Given the description of an element on the screen output the (x, y) to click on. 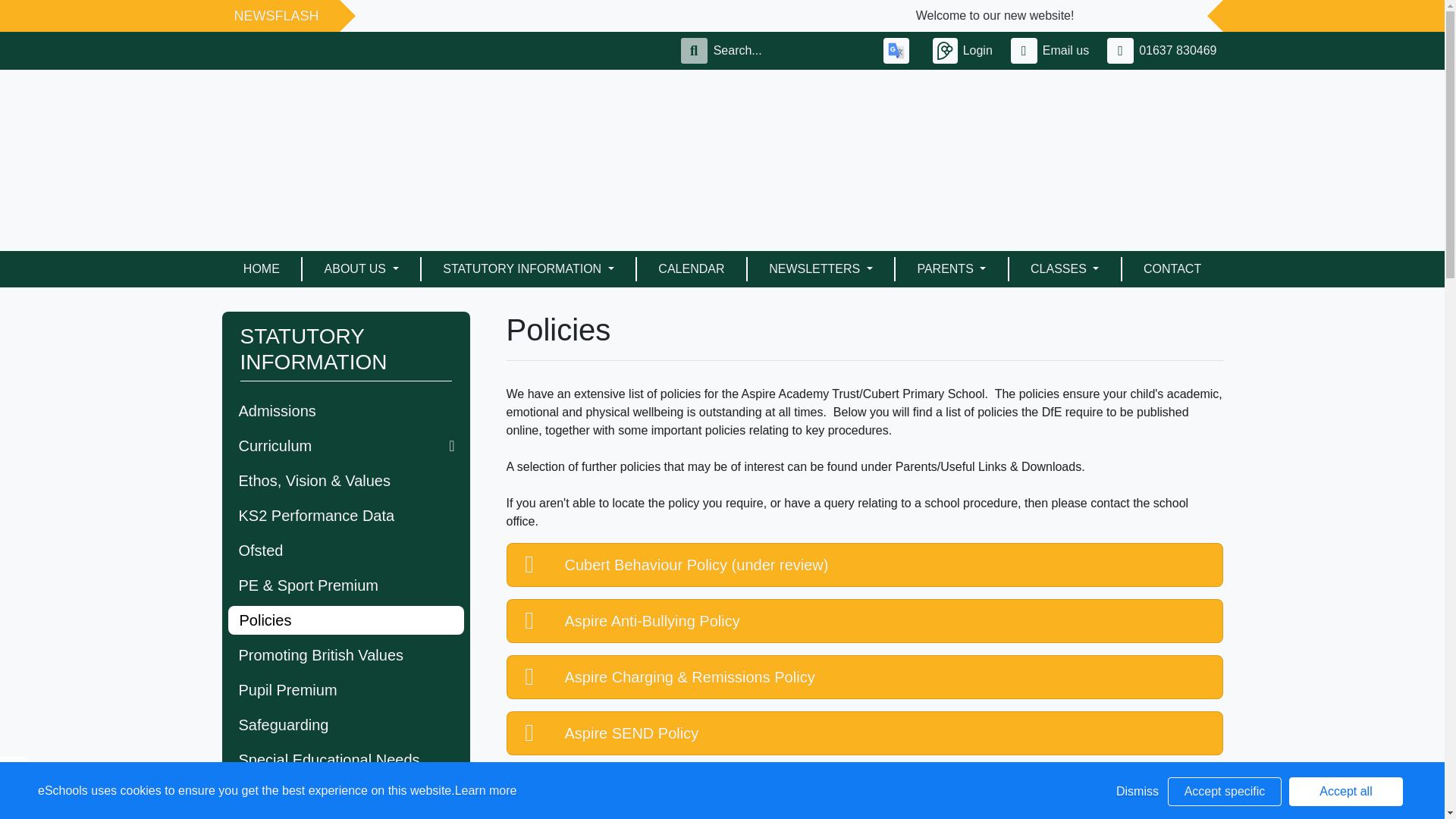
Login (965, 50)
Email us (1052, 50)
